Given the description of an element on the screen output the (x, y) to click on. 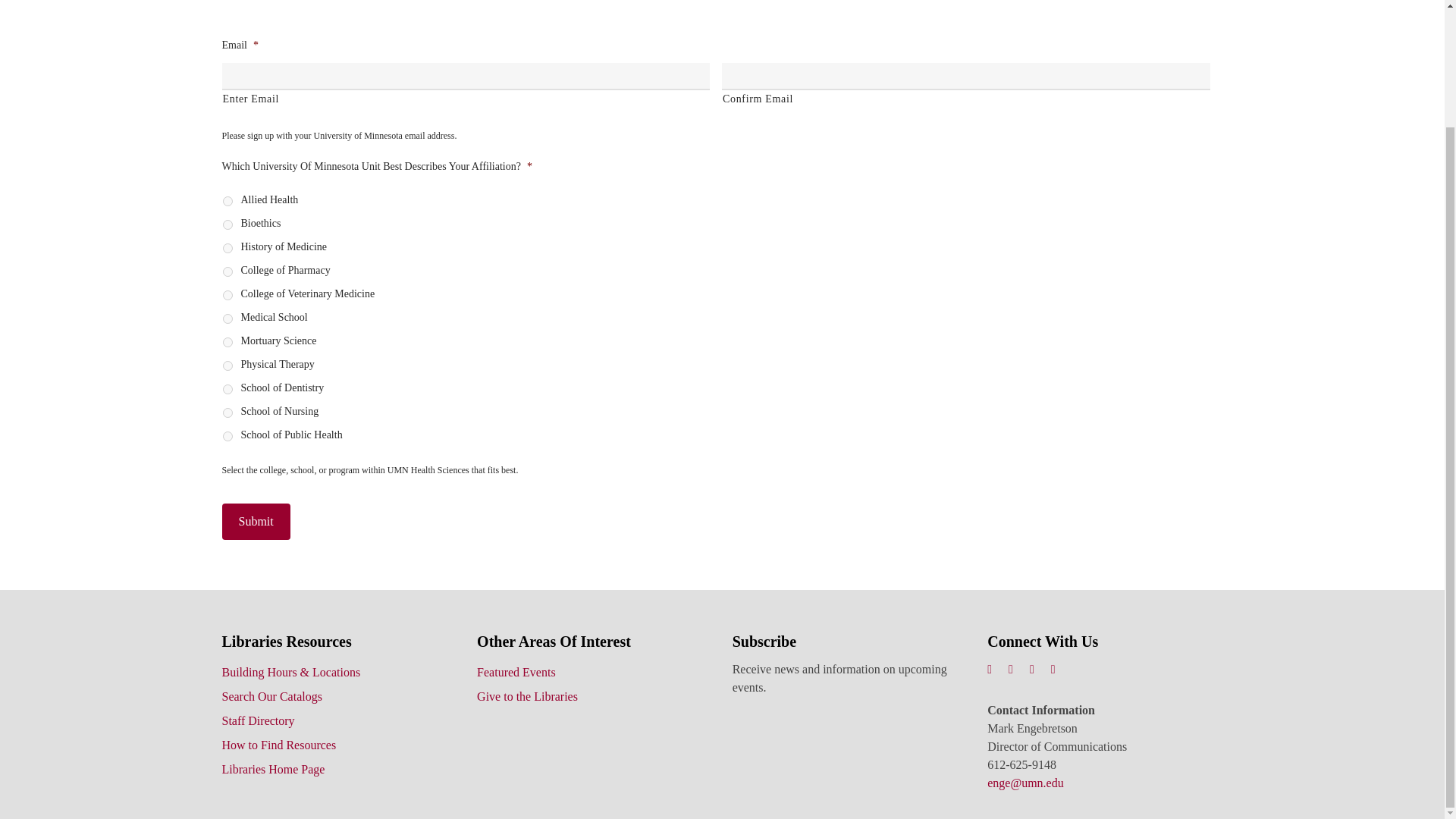
School of Dentistry (227, 388)
Allied Health (227, 201)
College of Veterinary Medicine (227, 295)
School of Nursing (227, 412)
School of Public Health (227, 436)
Mortuary Science (227, 342)
Bioethics (227, 225)
Submit (255, 521)
Submit (255, 521)
History of Medicine (227, 248)
